Given the description of an element on the screen output the (x, y) to click on. 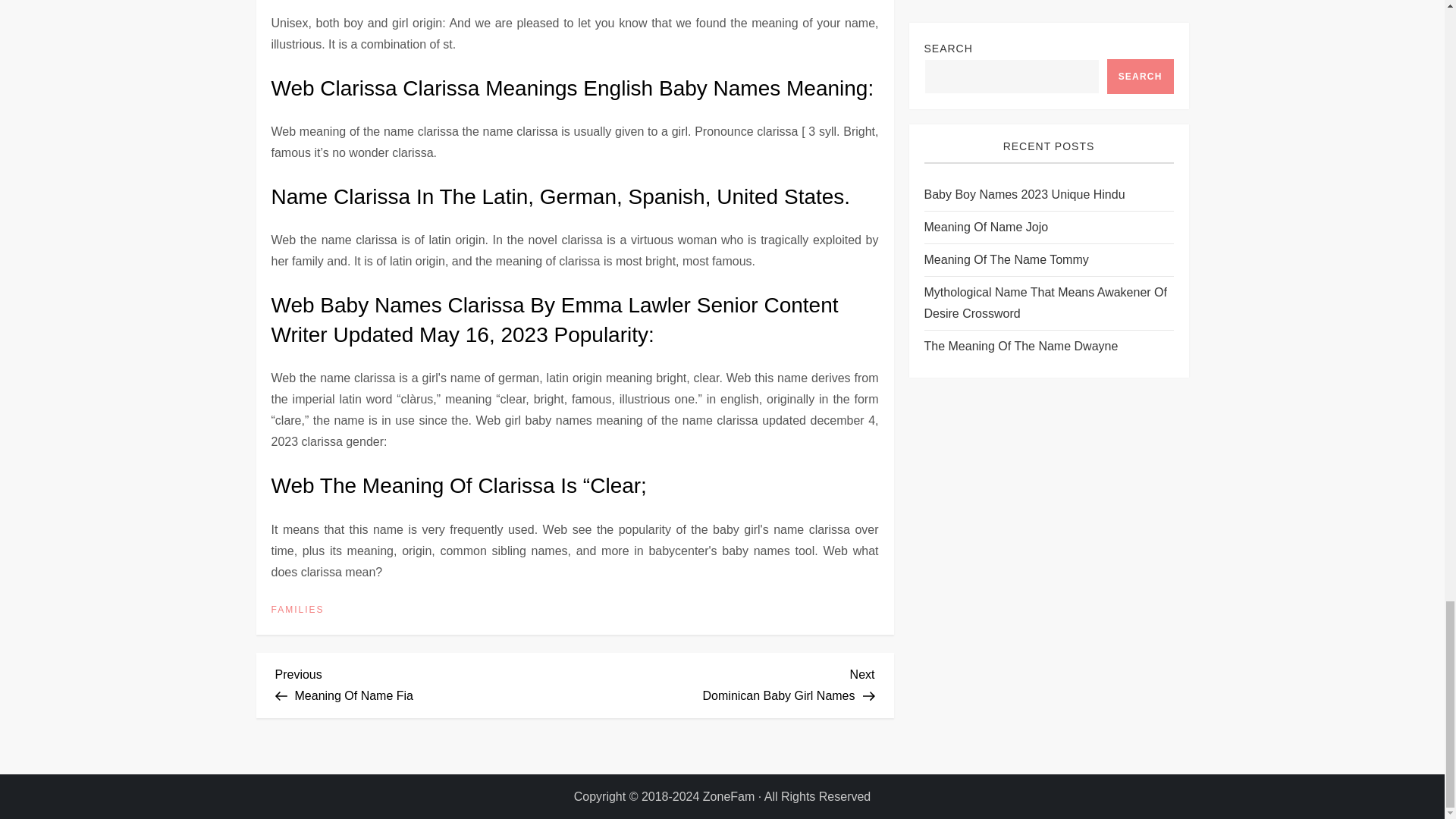
FAMILIES (297, 609)
